Given the description of an element on the screen output the (x, y) to click on. 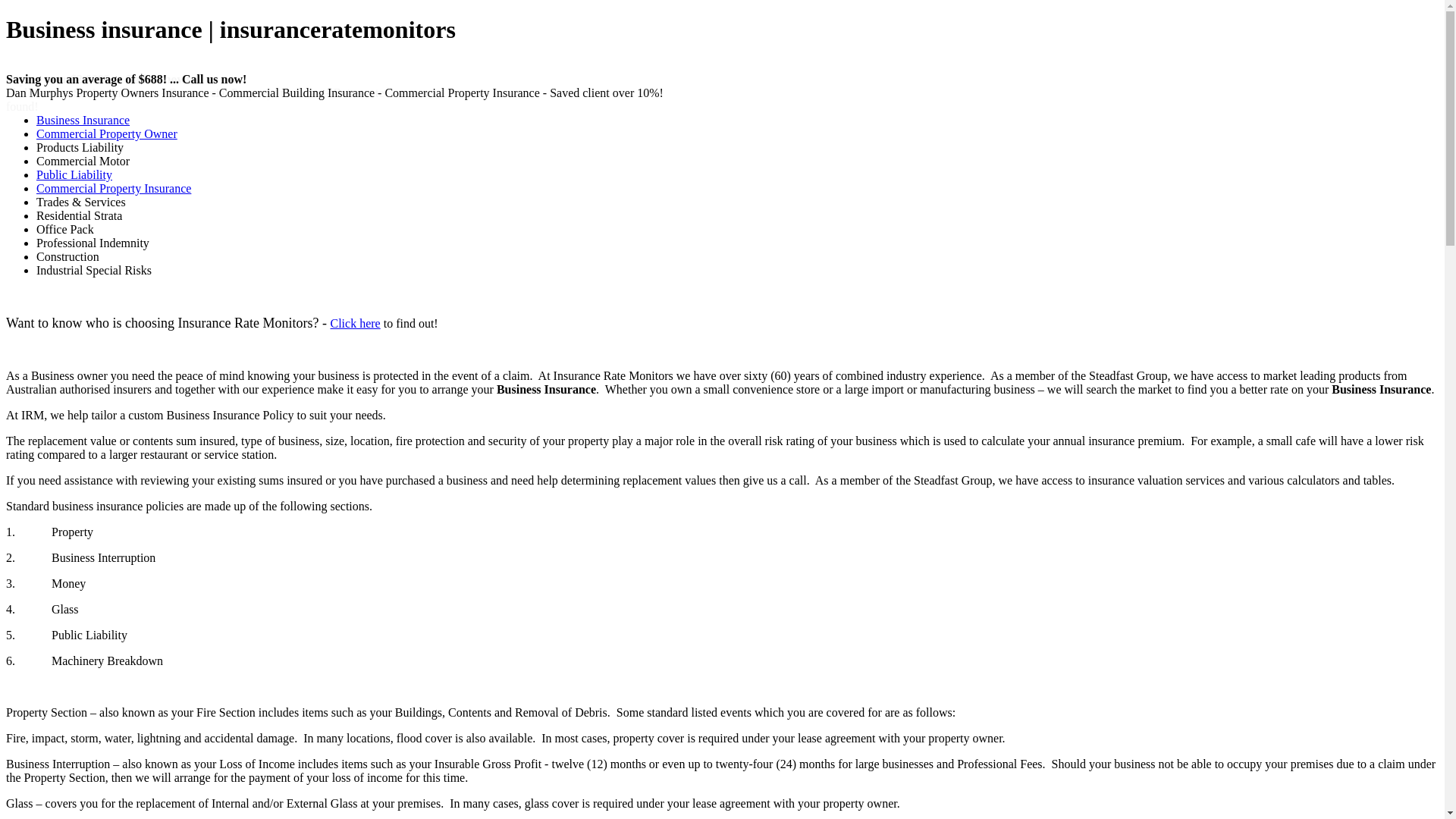
Click here Element type: text (354, 322)
Public Liability Element type: text (74, 174)
Commercial Property Owner Element type: text (106, 133)
Business Insurance Element type: text (82, 119)
Commercial Property Insurance Element type: text (113, 188)
